Given the description of an element on the screen output the (x, y) to click on. 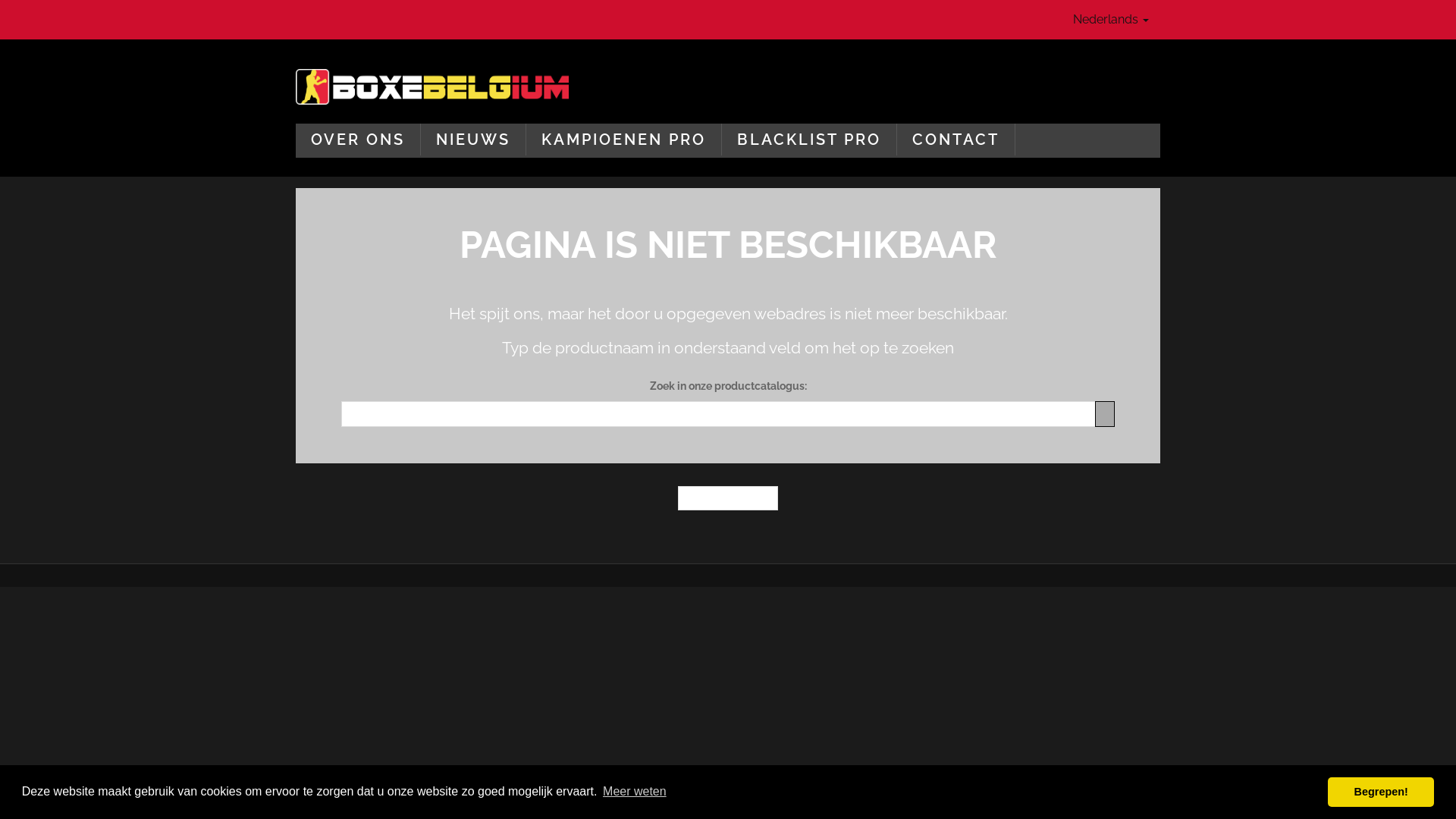
OVER ONS Element type: text (357, 139)
CONTACT Element type: text (955, 139)
KAMPIOENEN PRO Element type: text (623, 139)
Nederlands Element type: text (1110, 19)
Begrepen! Element type: text (1380, 791)
NIEUWS Element type: text (472, 139)
Boxebelgium.be Element type: hover (431, 86)
Meer weten Element type: text (634, 791)
OK Element type: text (1104, 413)
BLACKLIST PRO Element type: text (808, 139)
